Given the description of an element on the screen output the (x, y) to click on. 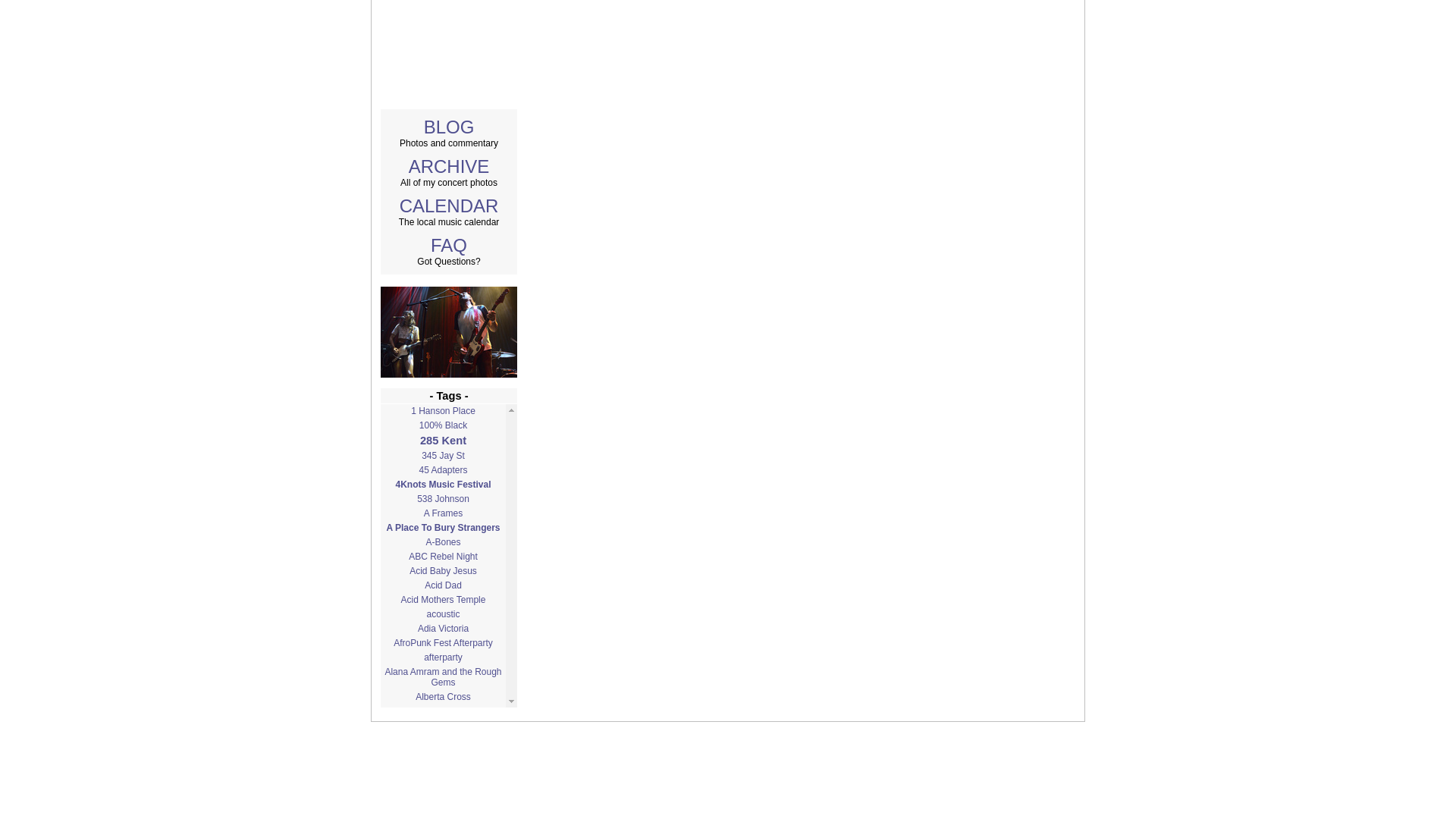
FAQ (448, 245)
538 Johnson (442, 499)
Alana Amram and the Rough Gems (442, 677)
4Knots Music Festival (442, 484)
ARCHIVE (449, 166)
afterparty (442, 657)
A Place To Bury Strangers (442, 527)
Acid Baby Jesus (442, 571)
A-Bones (442, 541)
45 Adapters (442, 469)
